Given the description of an element on the screen output the (x, y) to click on. 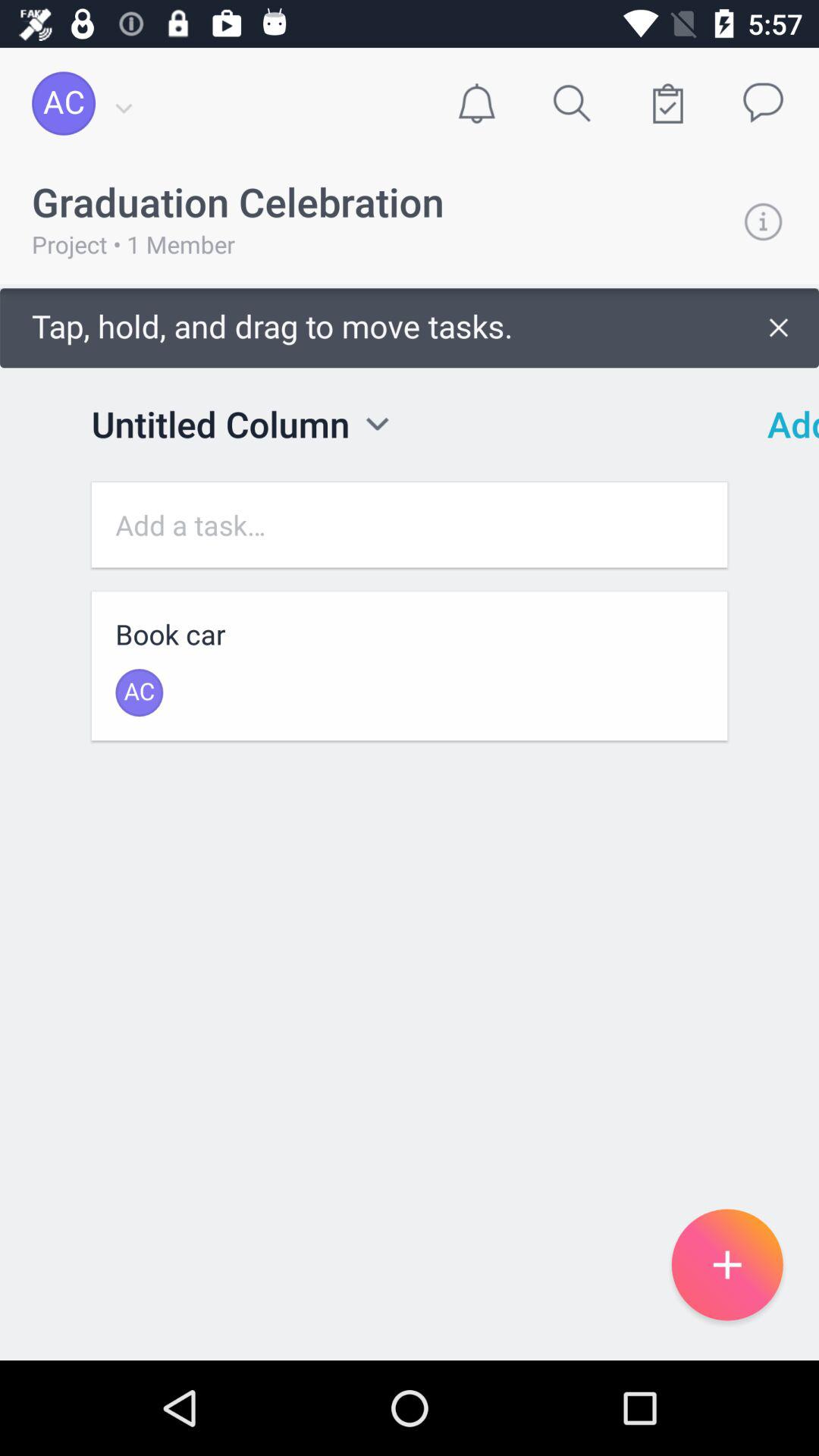
expand options (377, 423)
